Given the description of an element on the screen output the (x, y) to click on. 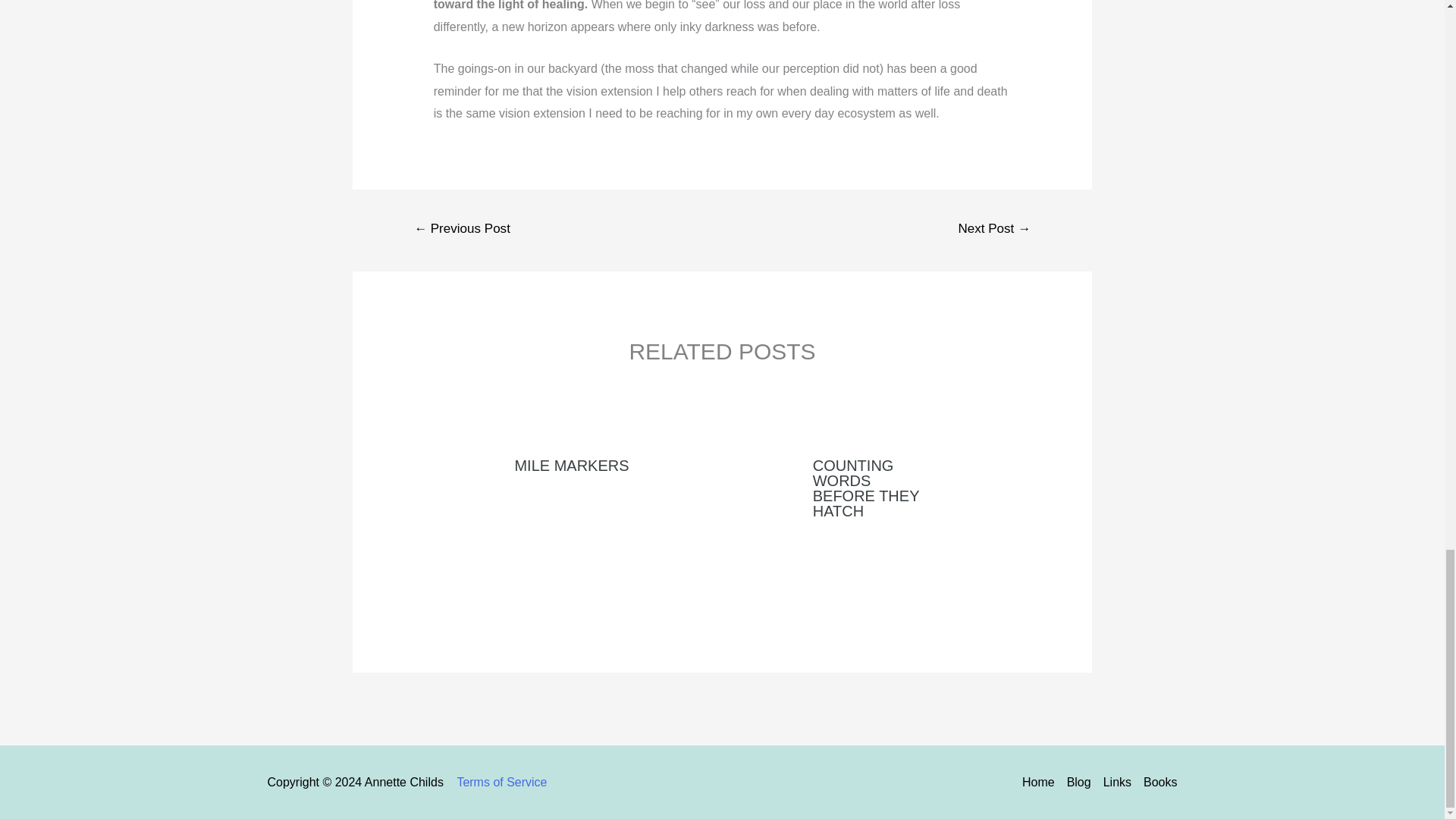
MILE MARKERS (570, 465)
Terms of Service (502, 781)
Blog (1079, 782)
COUNTING WORDS BEFORE THEY HATCH (865, 488)
Home (1041, 782)
Books (1156, 782)
Links (1117, 782)
